Given the description of an element on the screen output the (x, y) to click on. 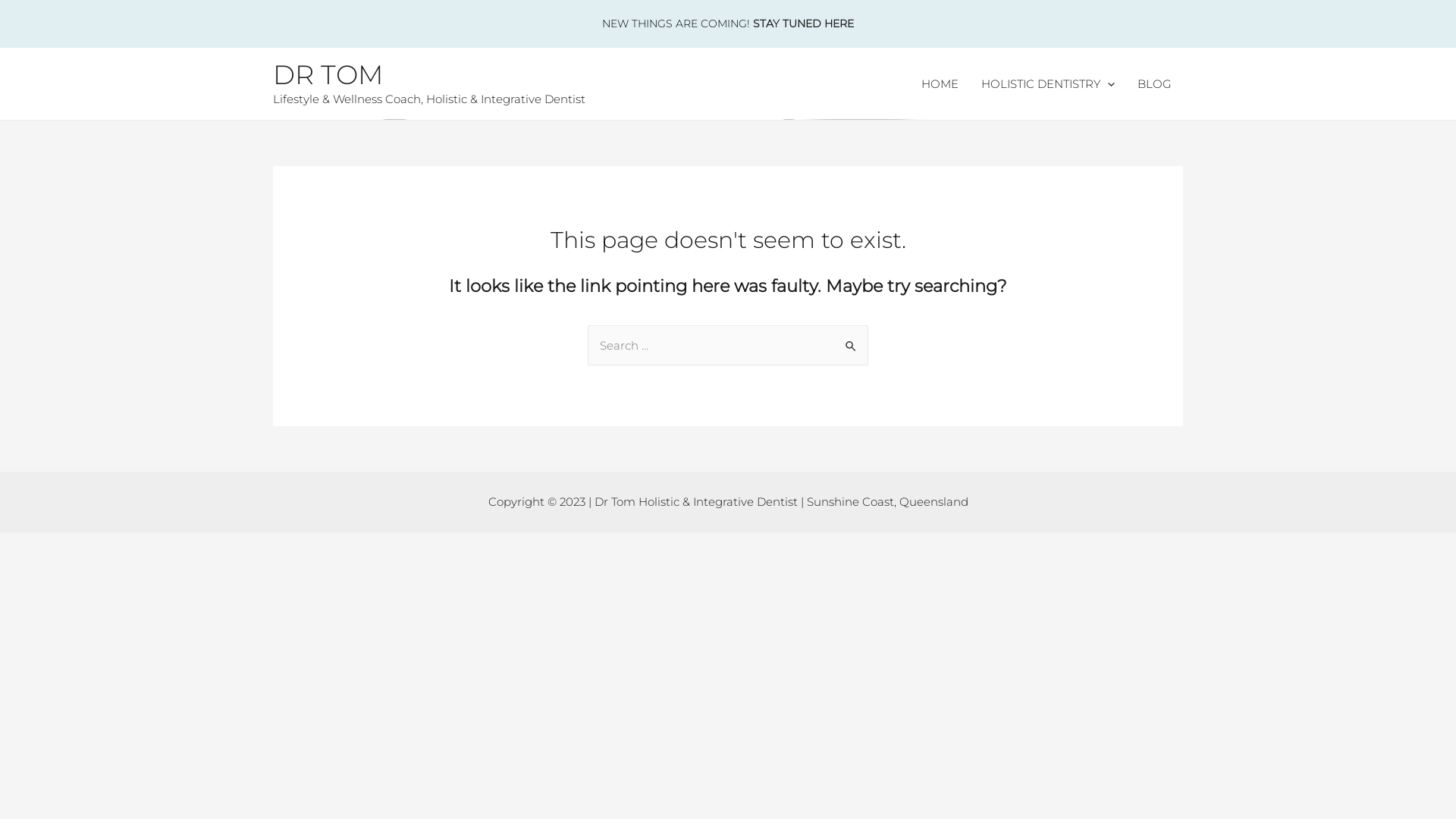
DR TOM Element type: text (327, 74)
Search Element type: text (851, 340)
HOLISTIC DENTISTRY Element type: text (1047, 83)
STAY TUNED HERE Element type: text (803, 23)
HOME Element type: text (939, 83)
BLOG Element type: text (1154, 83)
